Given the description of an element on the screen output the (x, y) to click on. 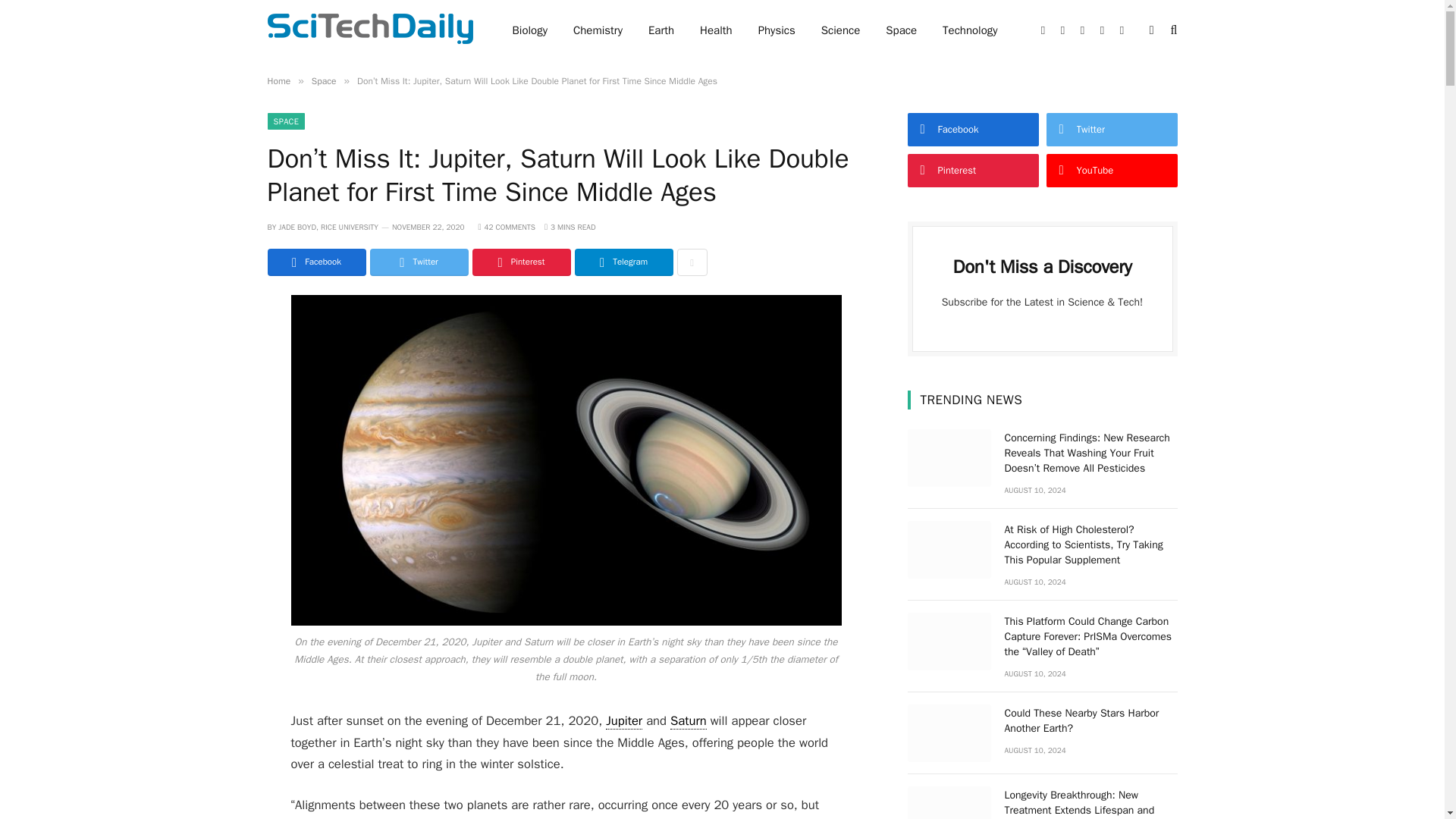
Health (716, 30)
Space (323, 80)
Share on Facebook (315, 262)
Biology (529, 30)
Twitter (418, 262)
Space (901, 30)
Chemistry (597, 30)
Telegram (623, 262)
Share on Pinterest (520, 262)
Technology (970, 30)
